Given the description of an element on the screen output the (x, y) to click on. 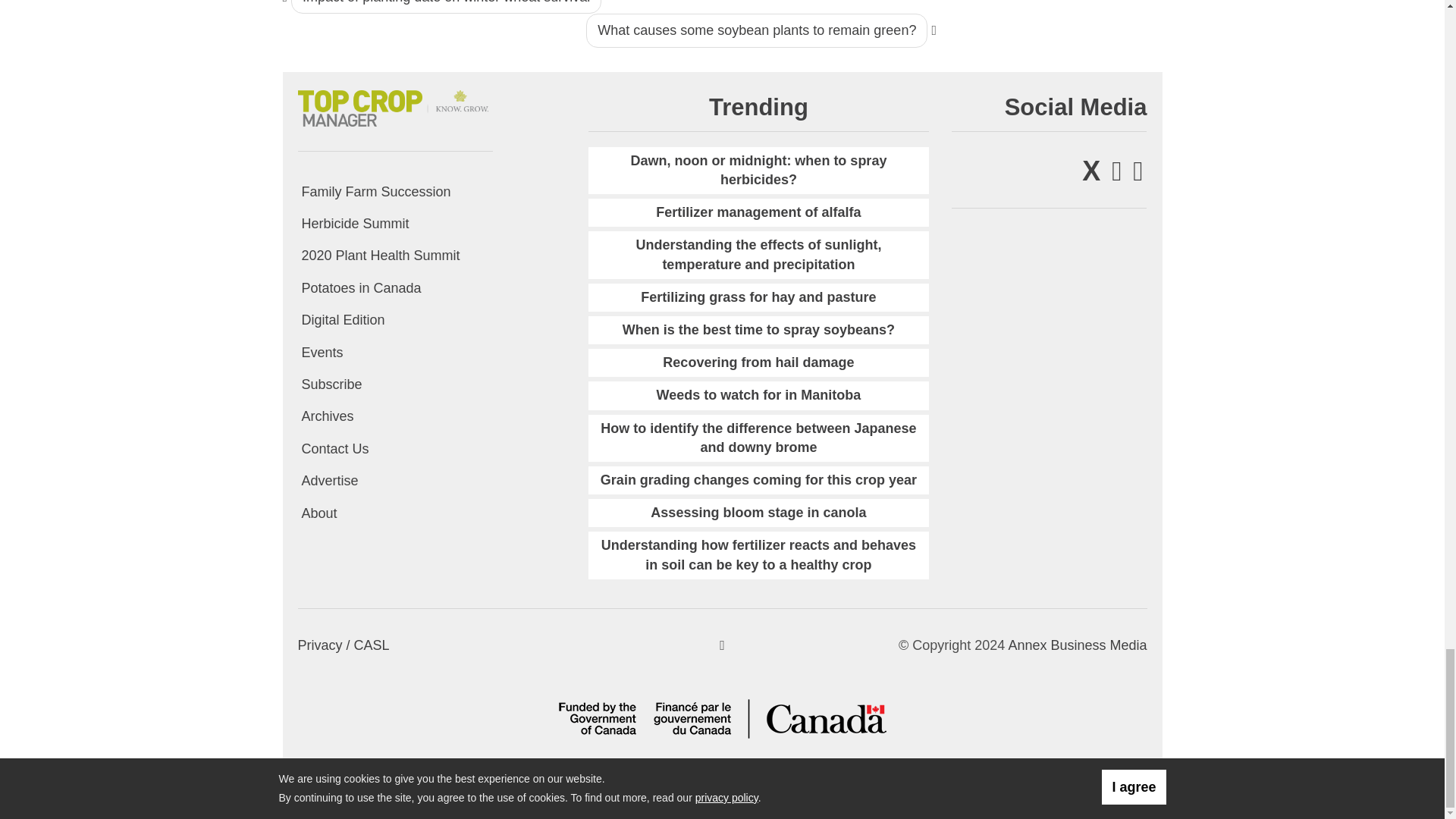
Top Crop Manager (395, 105)
Annex Business Media (1077, 645)
